Given the description of an element on the screen output the (x, y) to click on. 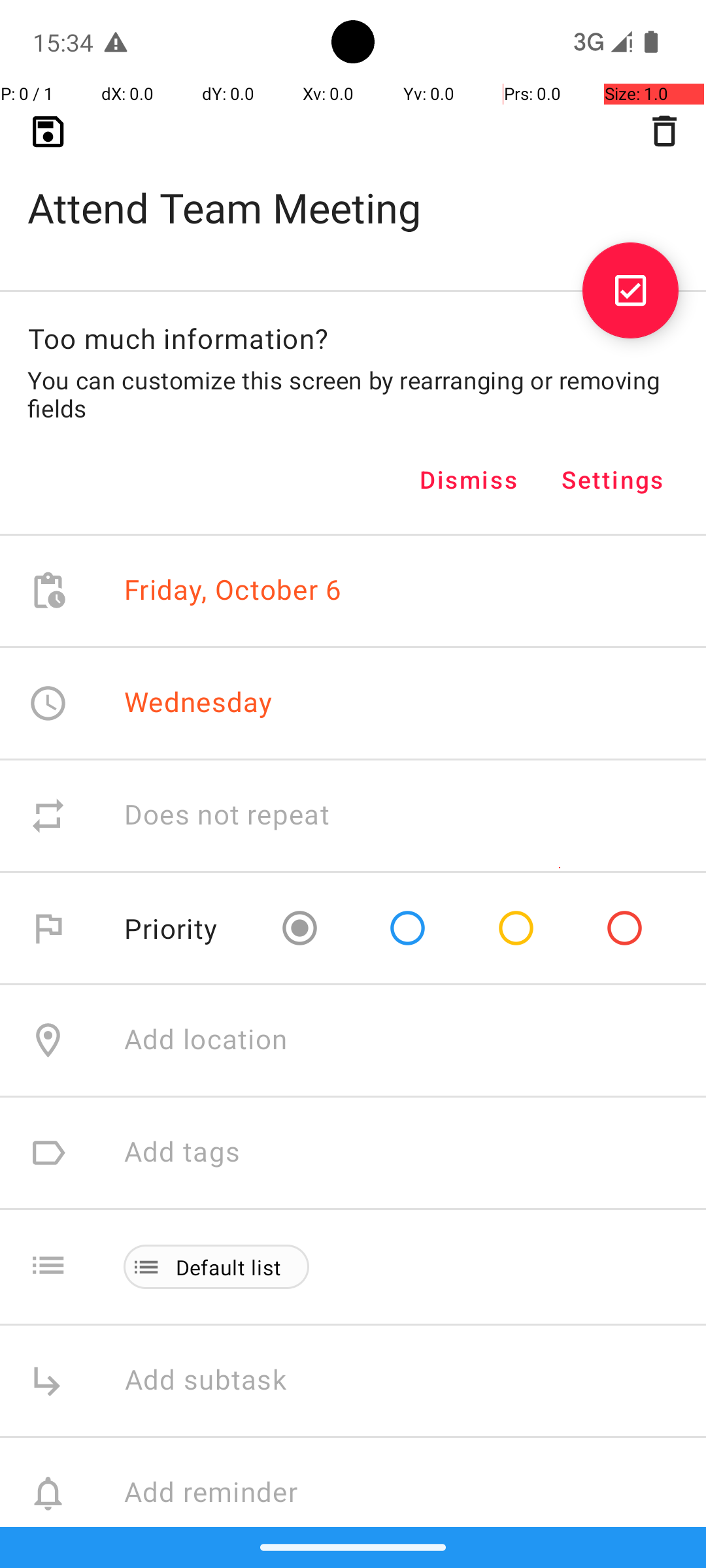
Friday, October 6 Element type: android.widget.TextView (232, 590)
